Given the description of an element on the screen output the (x, y) to click on. 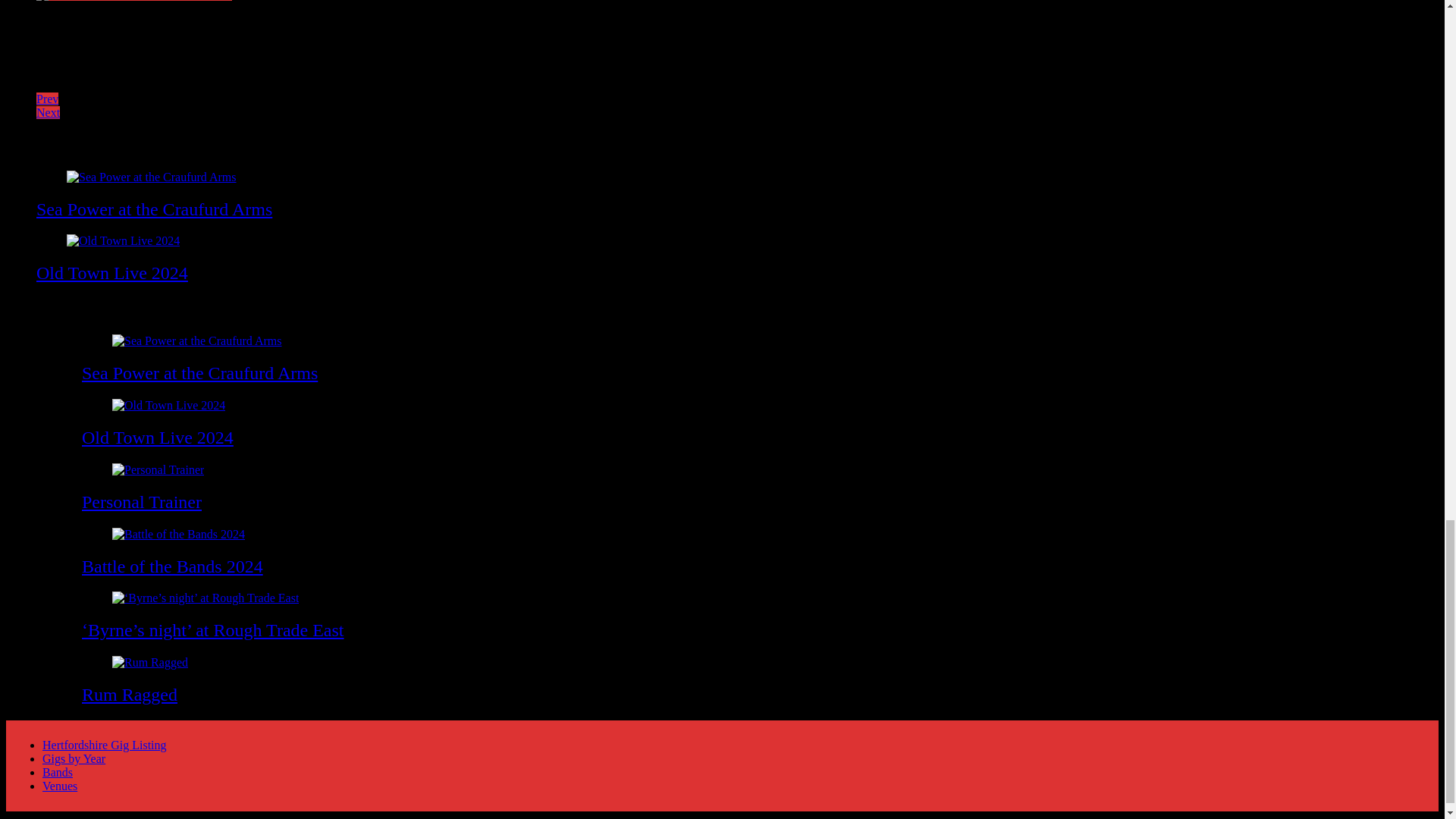
Sea Power at the Craufurd Arms (154, 209)
Next (47, 112)
Prev (47, 98)
